Given the description of an element on the screen output the (x, y) to click on. 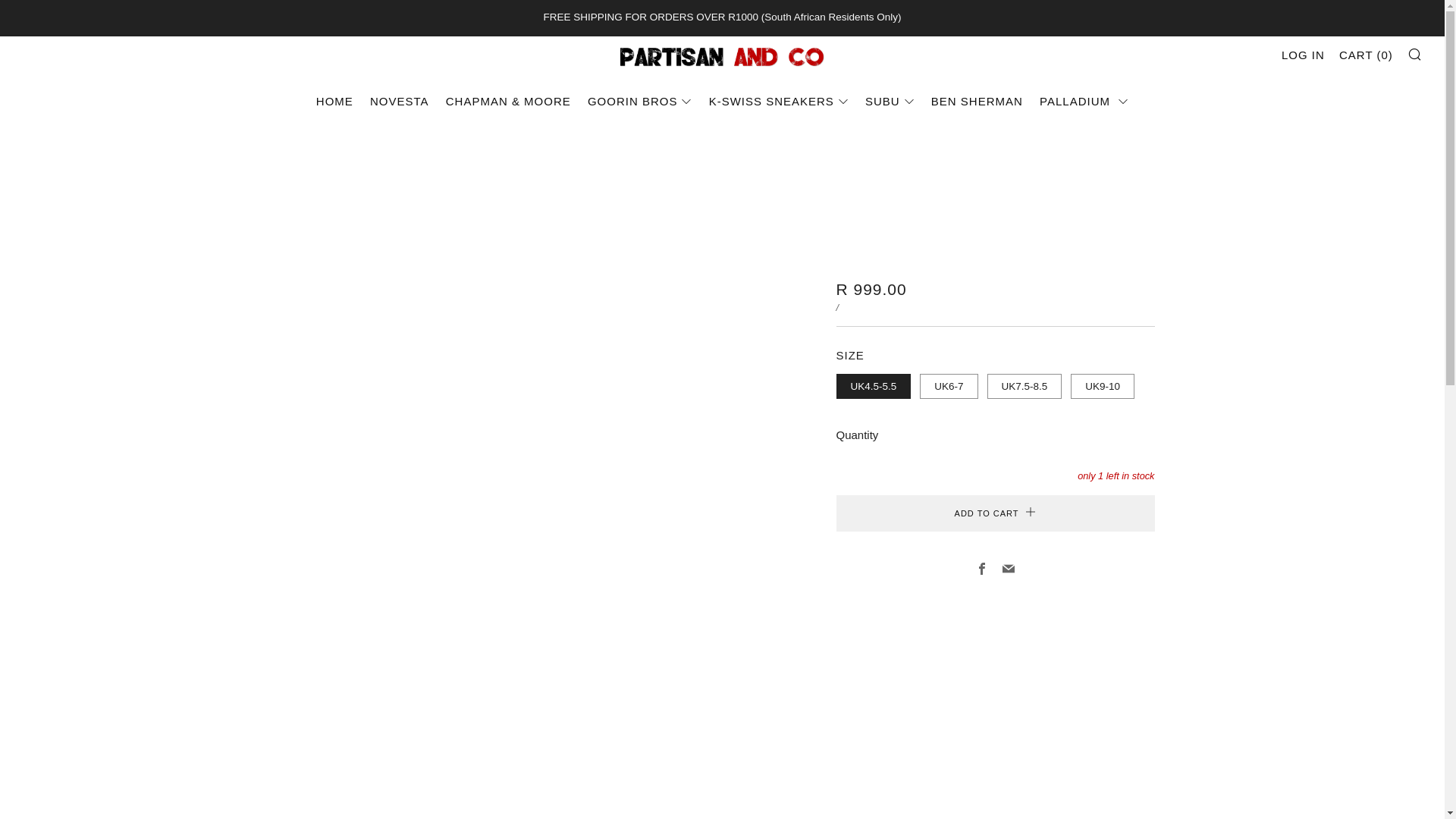
HOME (334, 101)
GOORIN BROS (640, 101)
NOVESTA (399, 101)
K-SWISS SNEAKERS (778, 101)
